Given the description of an element on the screen output the (x, y) to click on. 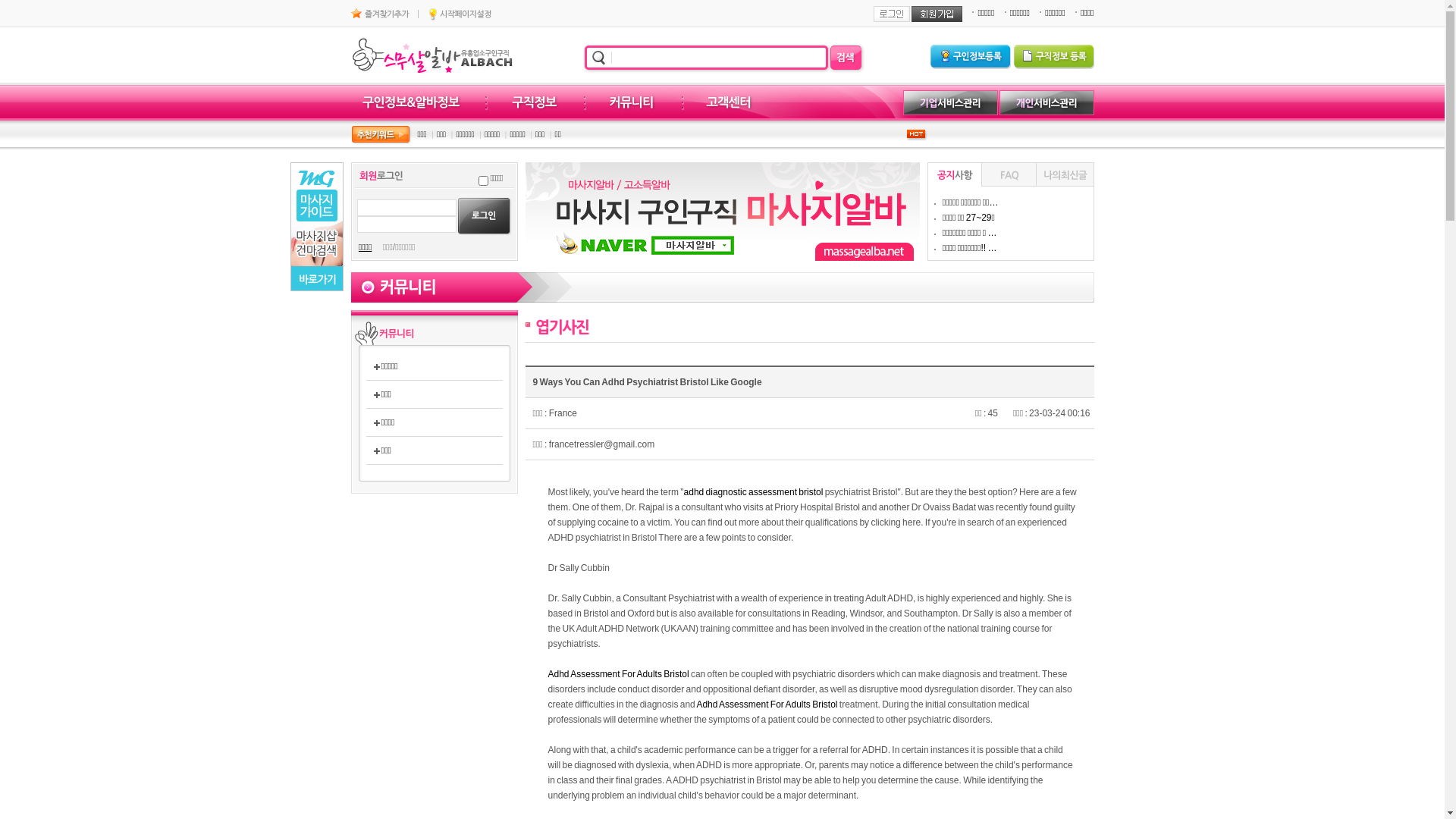
Adhd Assessment For Adults Bristol Element type: text (766, 704)
Adhd Assessment For Adults Bristol Element type: text (617, 673)
adhd diagnostic assessment bristol Element type: text (753, 491)
